Given the description of an element on the screen output the (x, y) to click on. 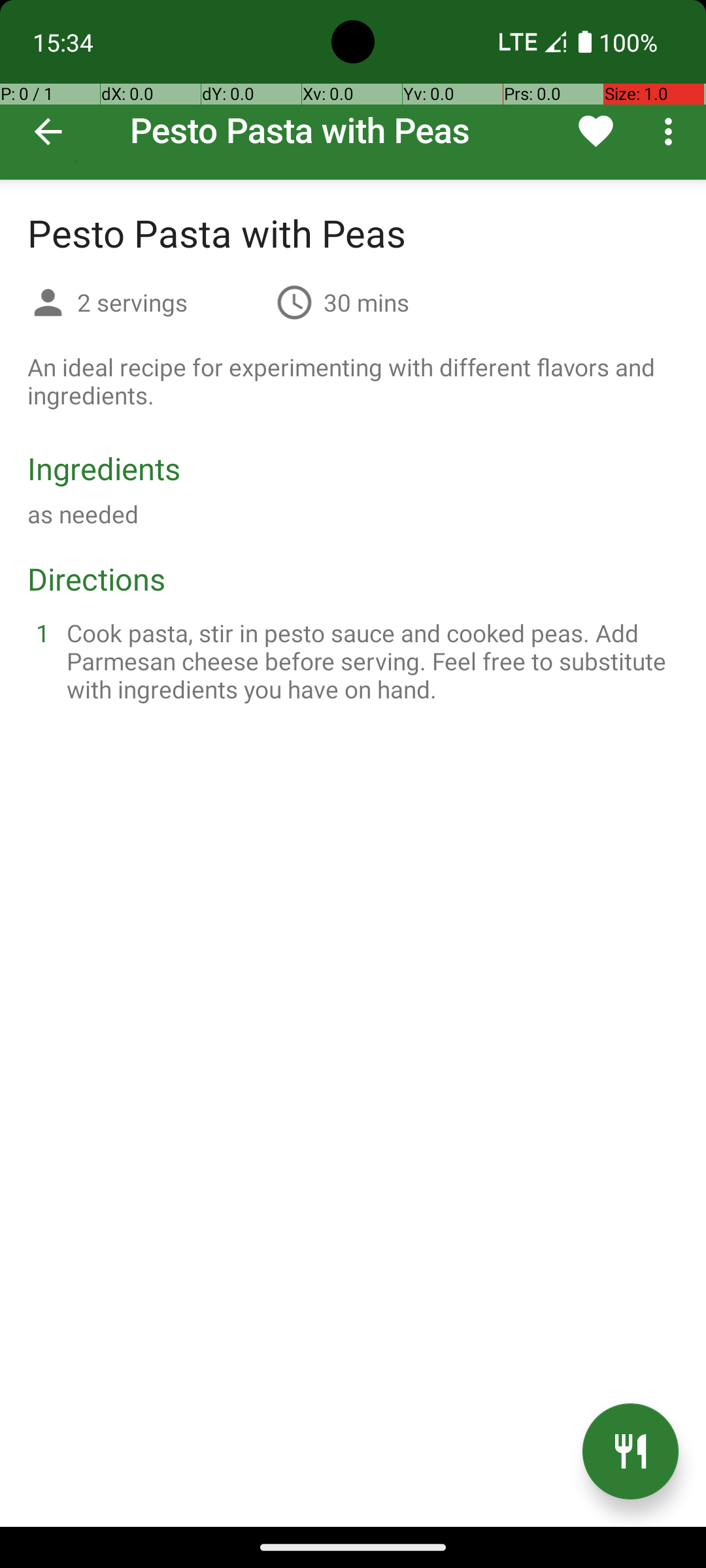
Cook pasta, stir in pesto sauce and cooked peas. Add Parmesan cheese before serving. Feel free to substitute with ingredients you have on hand. Element type: android.widget.TextView (368, 660)
